Given the description of an element on the screen output the (x, y) to click on. 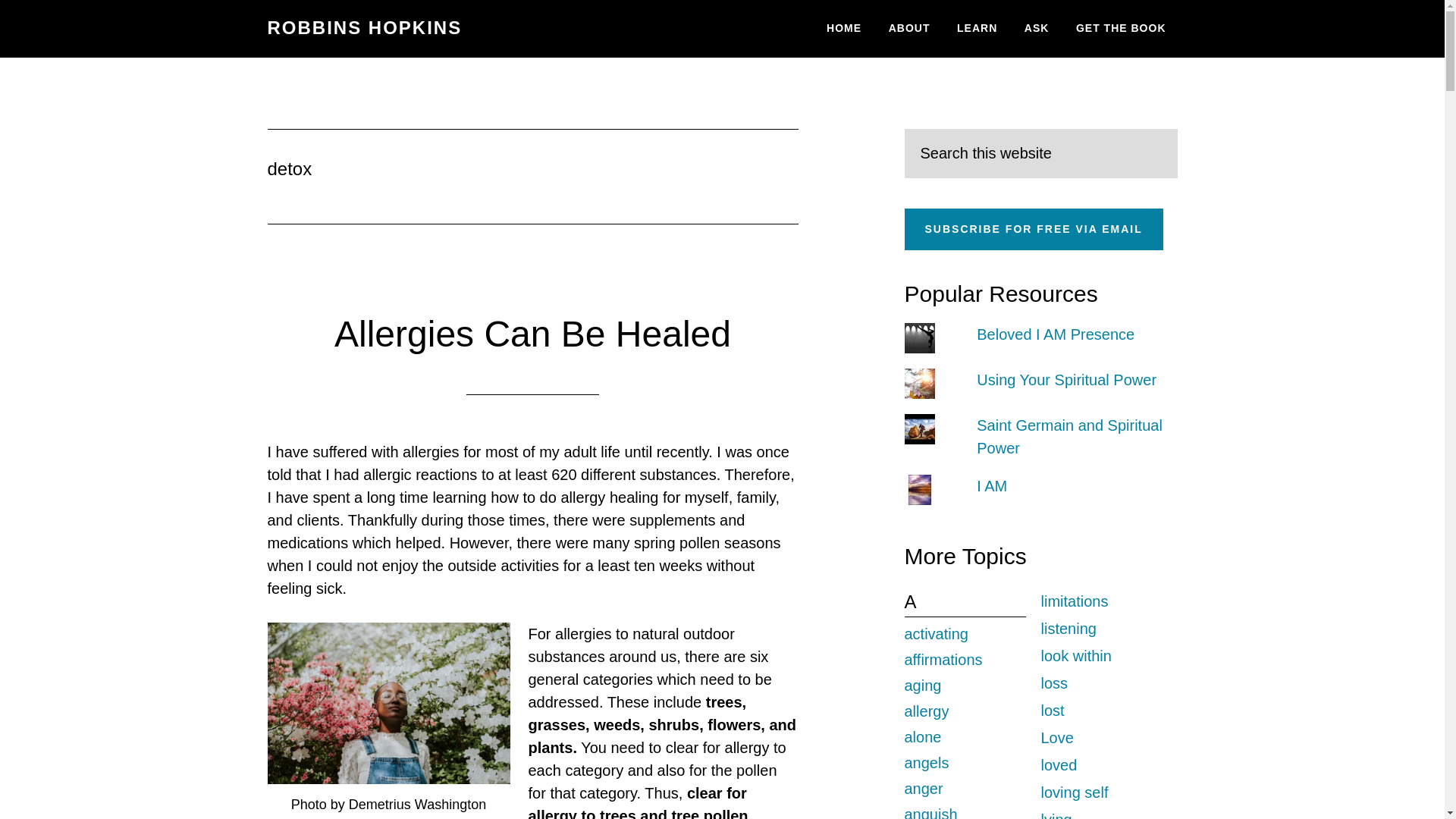
aging (922, 685)
ROBBINS HOPKINS (363, 27)
Using Your Spiritual Power (1066, 379)
ABOUT (909, 28)
affirmations (942, 659)
GET THE BOOK (1120, 28)
Allergies Can Be Healed (532, 333)
HOME (843, 28)
I AM (991, 485)
Beloved I AM Presence (1055, 334)
activating (936, 633)
angels (926, 762)
Saint Germain and Spiritual Power (1068, 436)
